Given the description of an element on the screen output the (x, y) to click on. 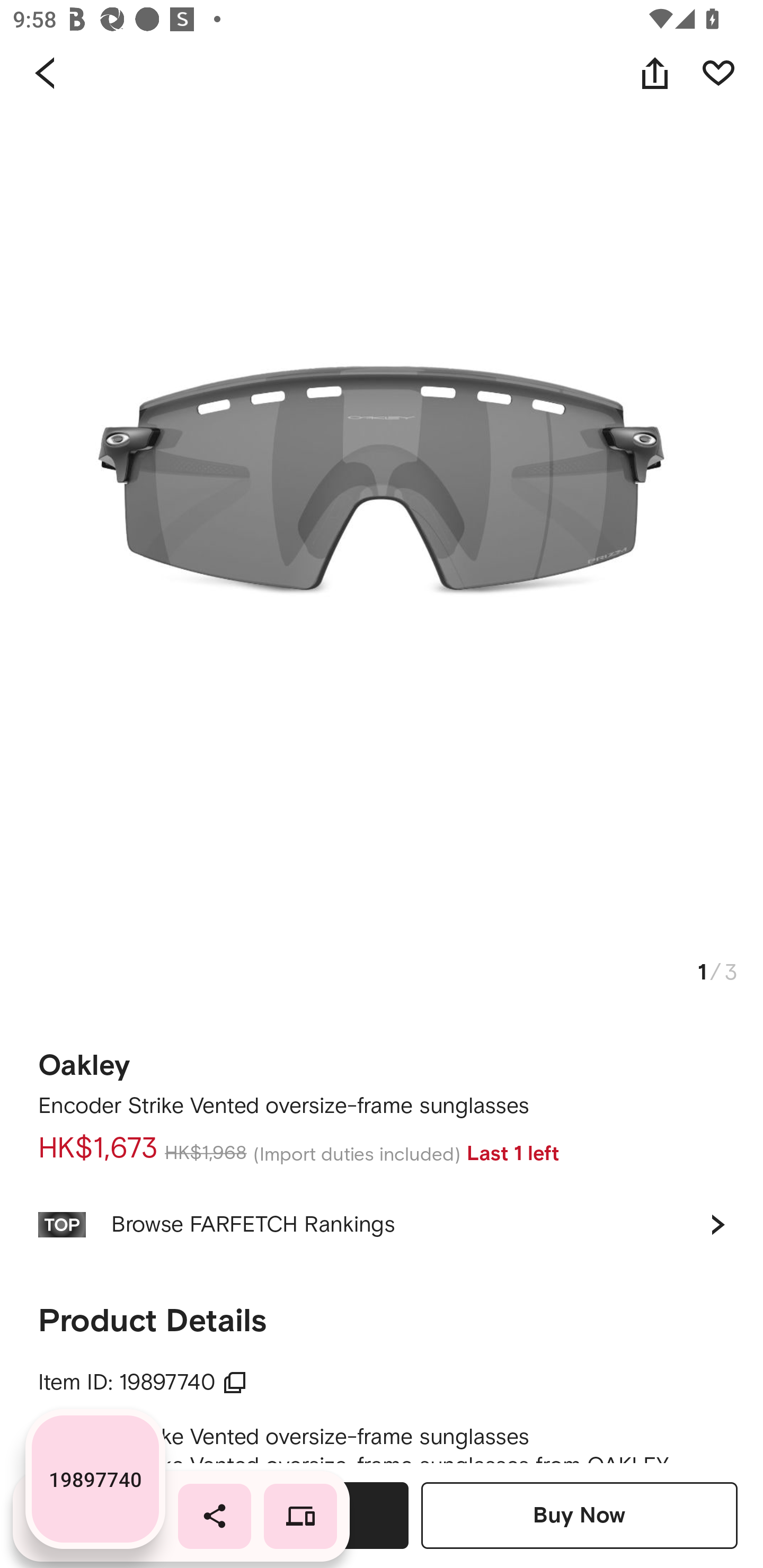
Oakley (83, 1059)
Browse FARFETCH Rankings (381, 1224)
Item ID: 19897740 (142, 1382)
Add To Bag (250, 1515)
Buy Now (579, 1515)
